Given the description of an element on the screen output the (x, y) to click on. 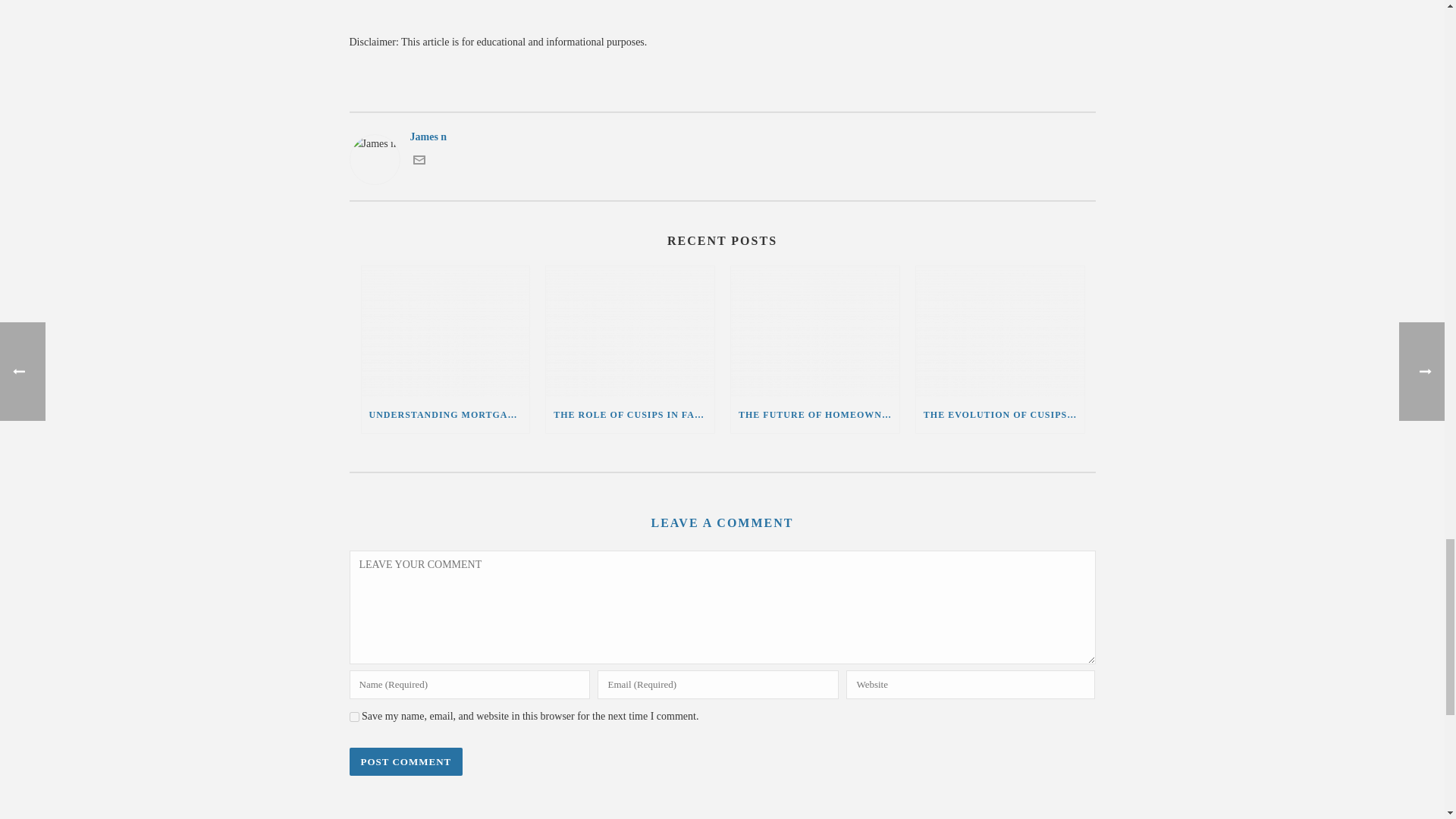
yes (353, 716)
Get in touch with me via email (418, 162)
POST COMMENT (406, 761)
